Given the description of an element on the screen output the (x, y) to click on. 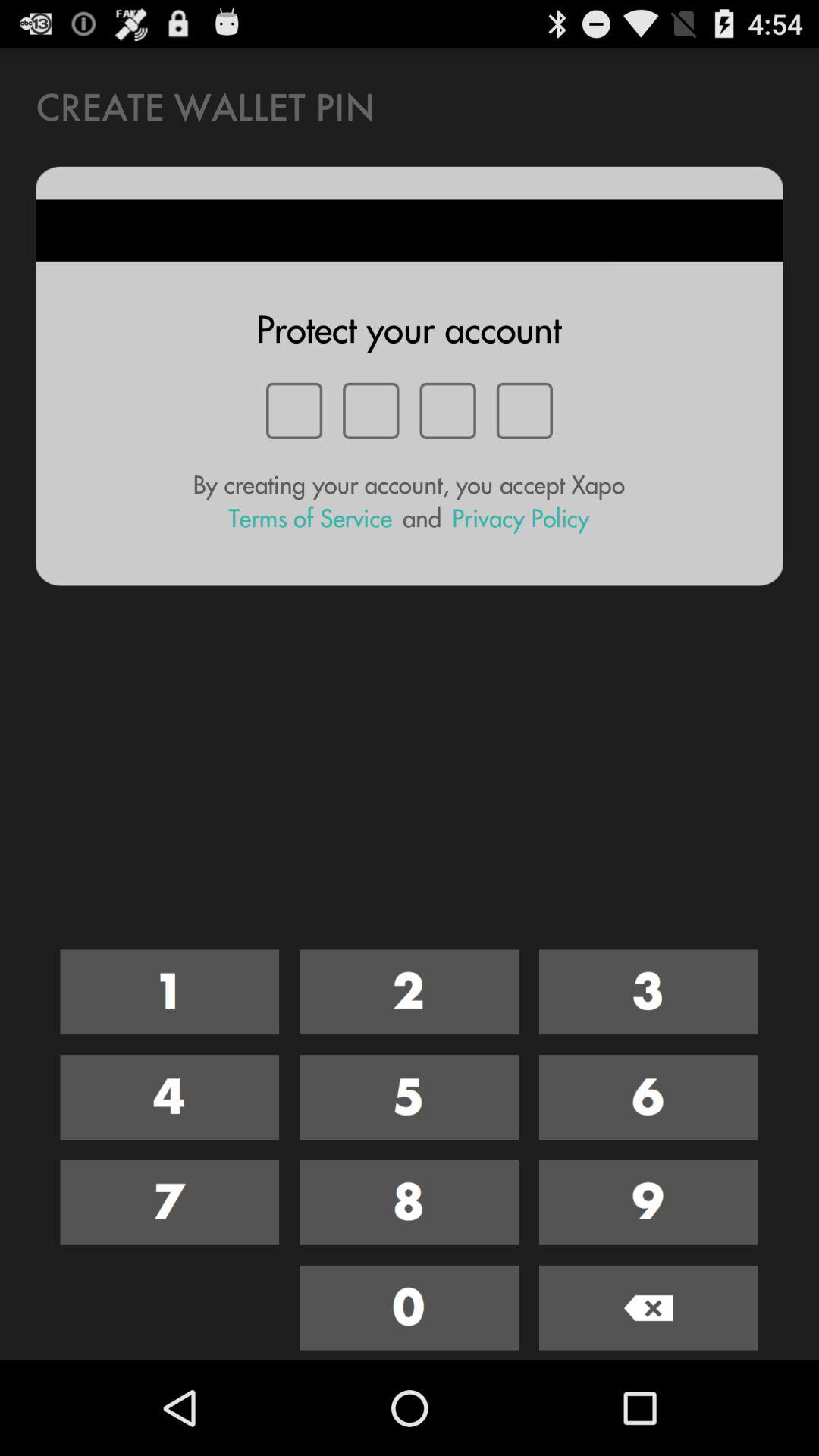
enter the password (169, 1097)
